Given the description of an element on the screen output the (x, y) to click on. 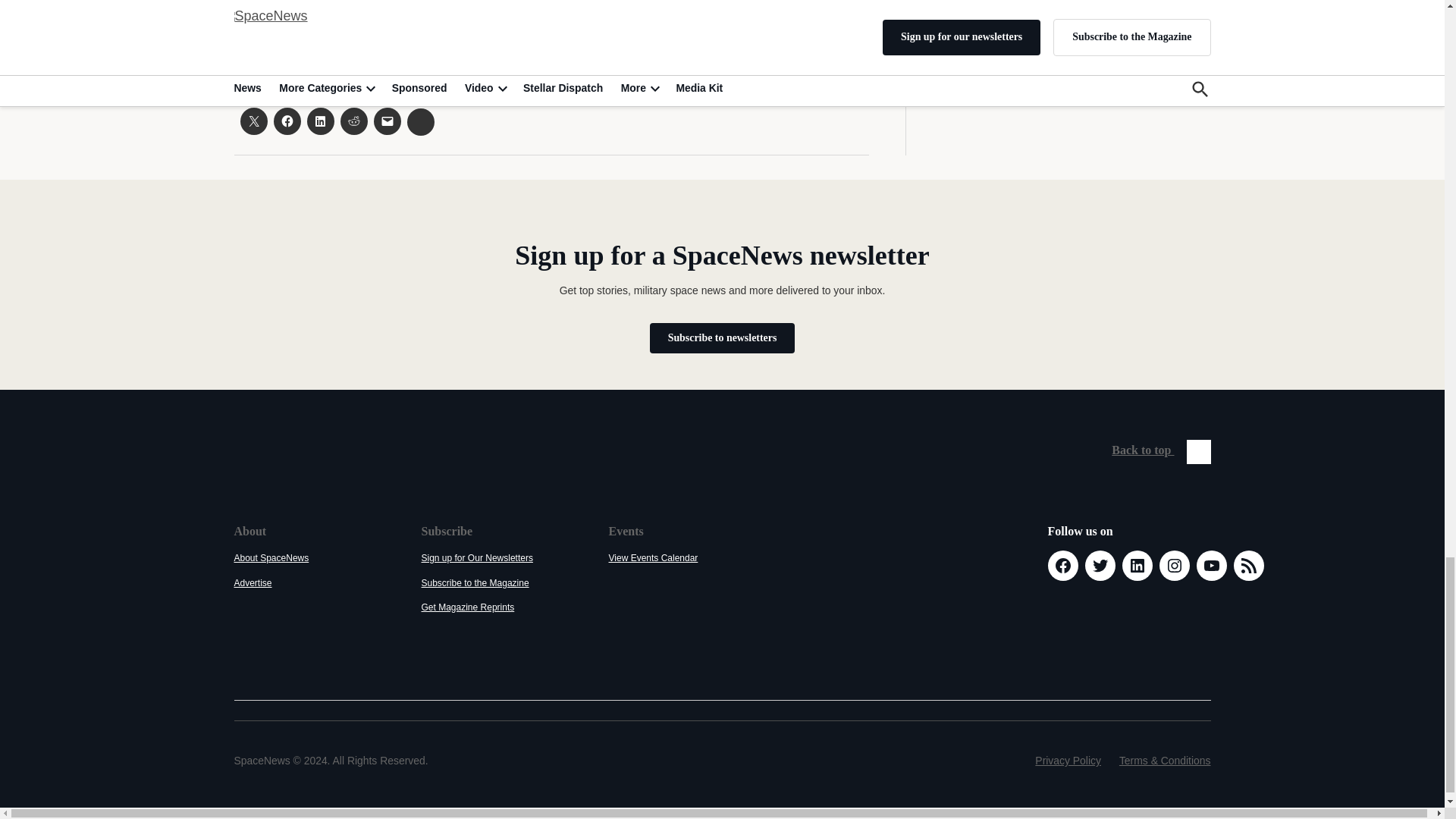
Click to email a link to a friend (386, 121)
Click to share on X (253, 121)
Click to share on LinkedIn (319, 121)
Click to share on Reddit (352, 121)
Click to share on Facebook (286, 121)
